Given the description of an element on the screen output the (x, y) to click on. 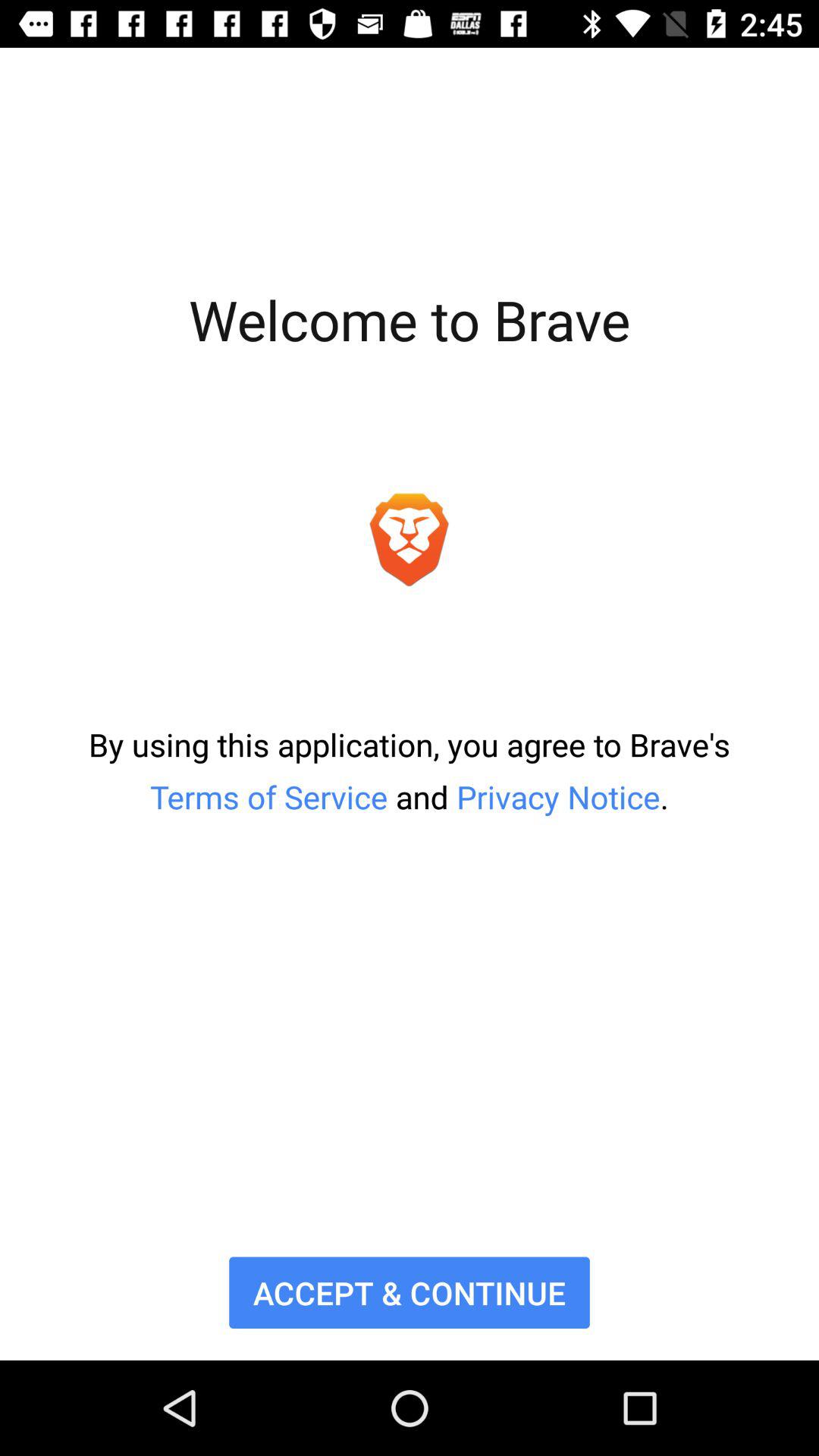
select the icon below by using this icon (409, 1292)
